Given the description of an element on the screen output the (x, y) to click on. 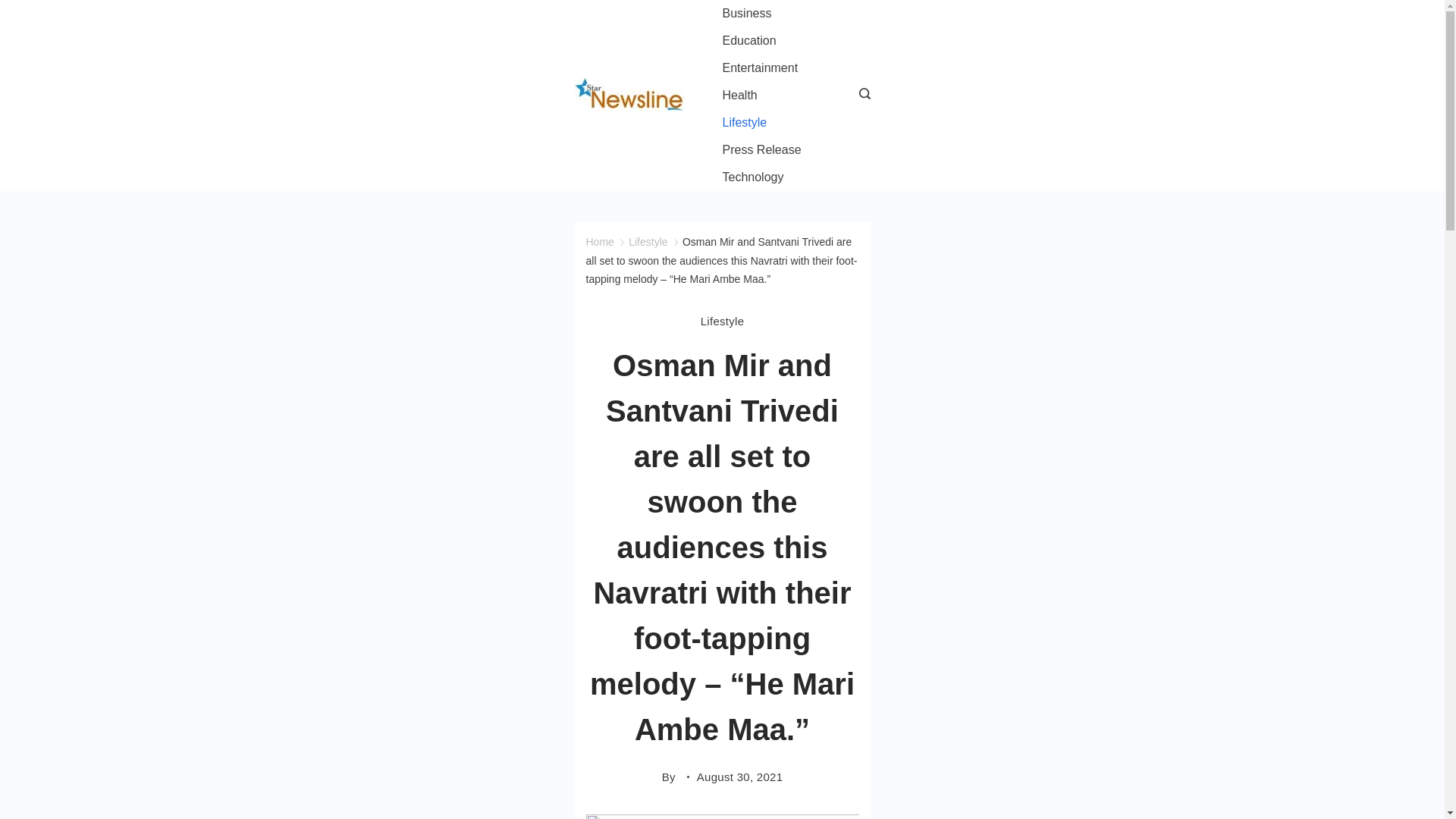
Lifestyle (647, 241)
Lifestyle (722, 320)
Home (598, 241)
Health (739, 94)
Technology (753, 176)
Business (746, 13)
Lifestyle (744, 122)
Entertainment (759, 67)
Press Release (762, 149)
Education (748, 40)
